Given the description of an element on the screen output the (x, y) to click on. 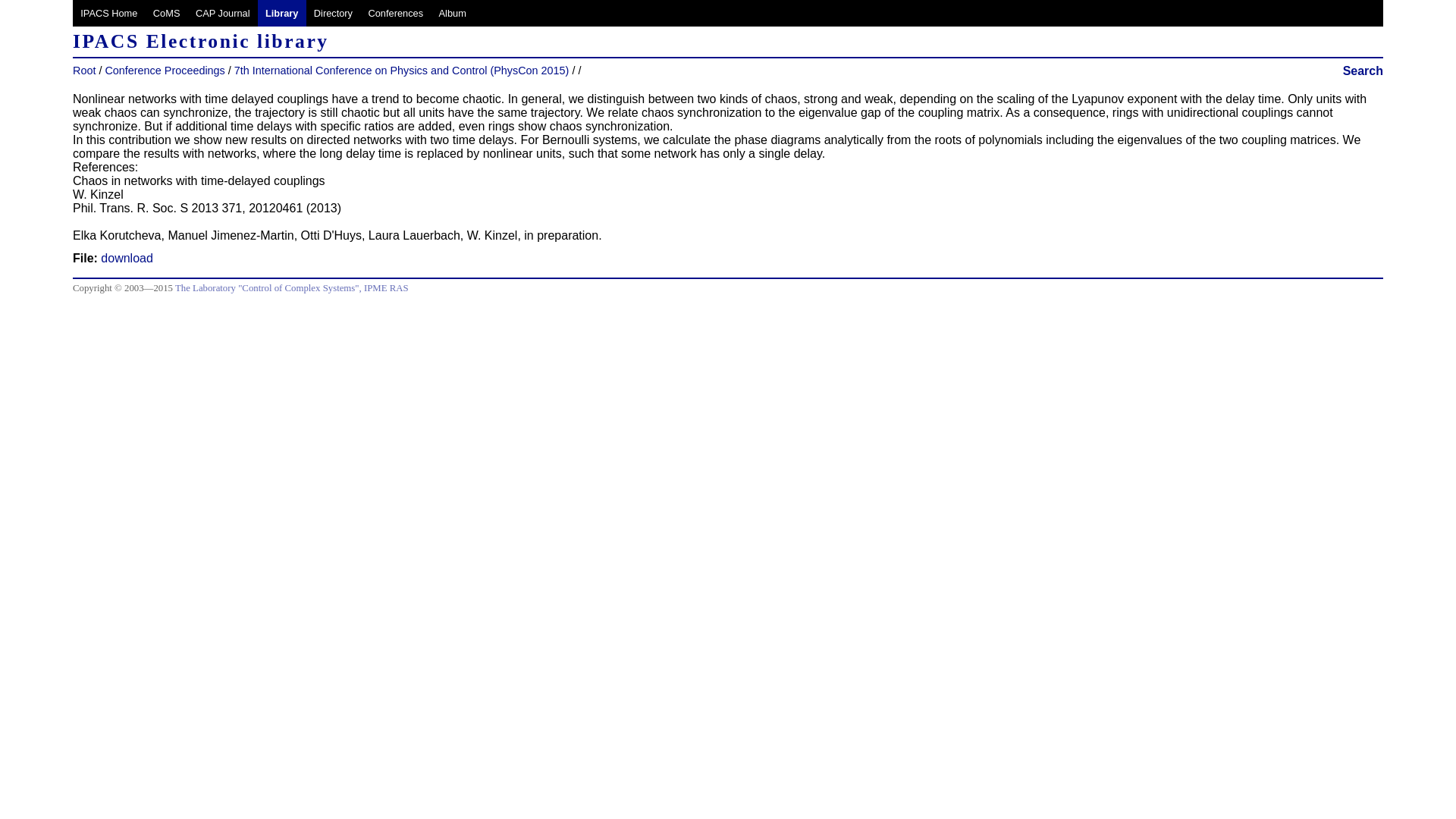
Conferences (394, 13)
International Physics and Control Society home page (108, 13)
CoMS (166, 13)
Conferences sites (394, 13)
Album (452, 13)
IPACS Home (108, 13)
Conference Proceedings (164, 70)
Physics and Control resources directory (333, 13)
CAP Journal (222, 13)
Directory (333, 13)
